Given the description of an element on the screen output the (x, y) to click on. 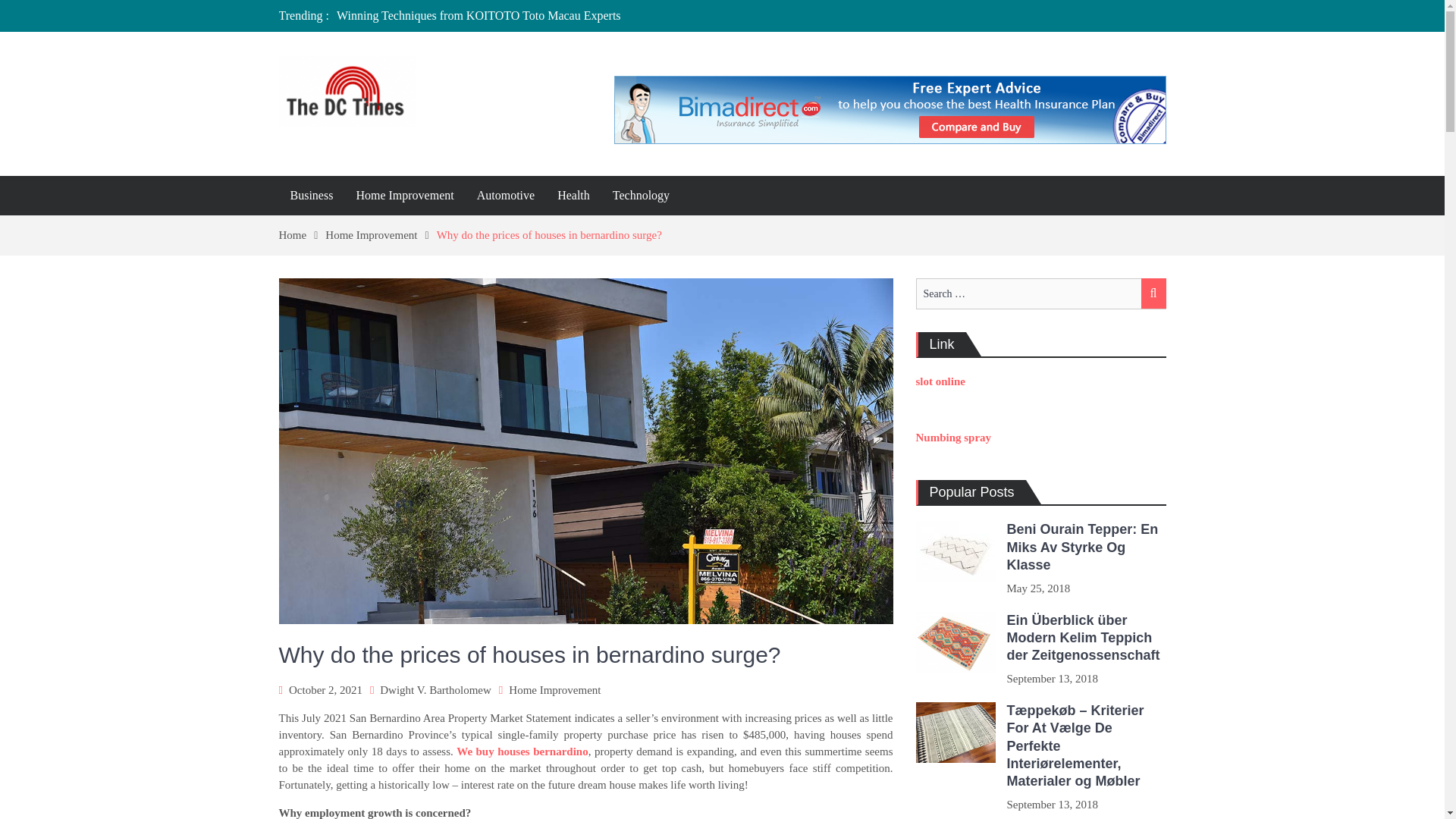
Home (302, 234)
slot online (940, 381)
Winning Techniques from KOITOTO Toto Macau Experts (478, 15)
Numbing spray (953, 437)
Health (573, 195)
Automotive (505, 195)
Dwight V. Bartholomew (436, 689)
Home Improvement (553, 689)
Beni Ourain Tepper: En Miks Av Styrke Og Klasse (1082, 546)
Home Improvement (379, 234)
Business (312, 195)
October 2, 2021 (325, 689)
We buy houses bernardino (522, 751)
Technology (641, 195)
Home Improvement (403, 195)
